Given the description of an element on the screen output the (x, y) to click on. 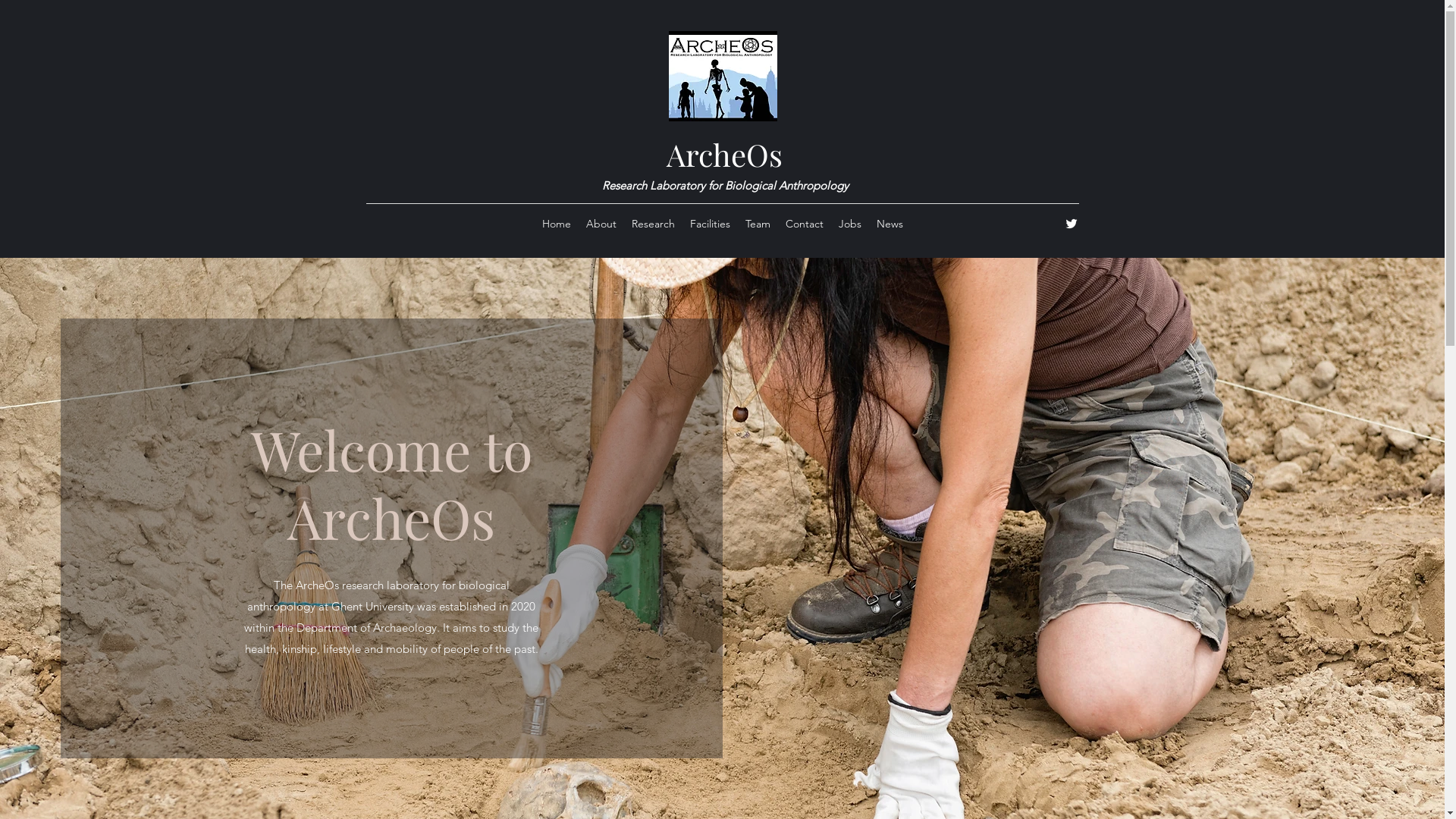
Facilities Element type: text (709, 223)
Jobs Element type: text (850, 223)
Home Element type: text (555, 223)
ArcheOs Element type: text (723, 154)
Contact Element type: text (804, 223)
About Element type: text (600, 223)
Research Element type: text (652, 223)
News Element type: text (889, 223)
Team Element type: text (757, 223)
